Given the description of an element on the screen output the (x, y) to click on. 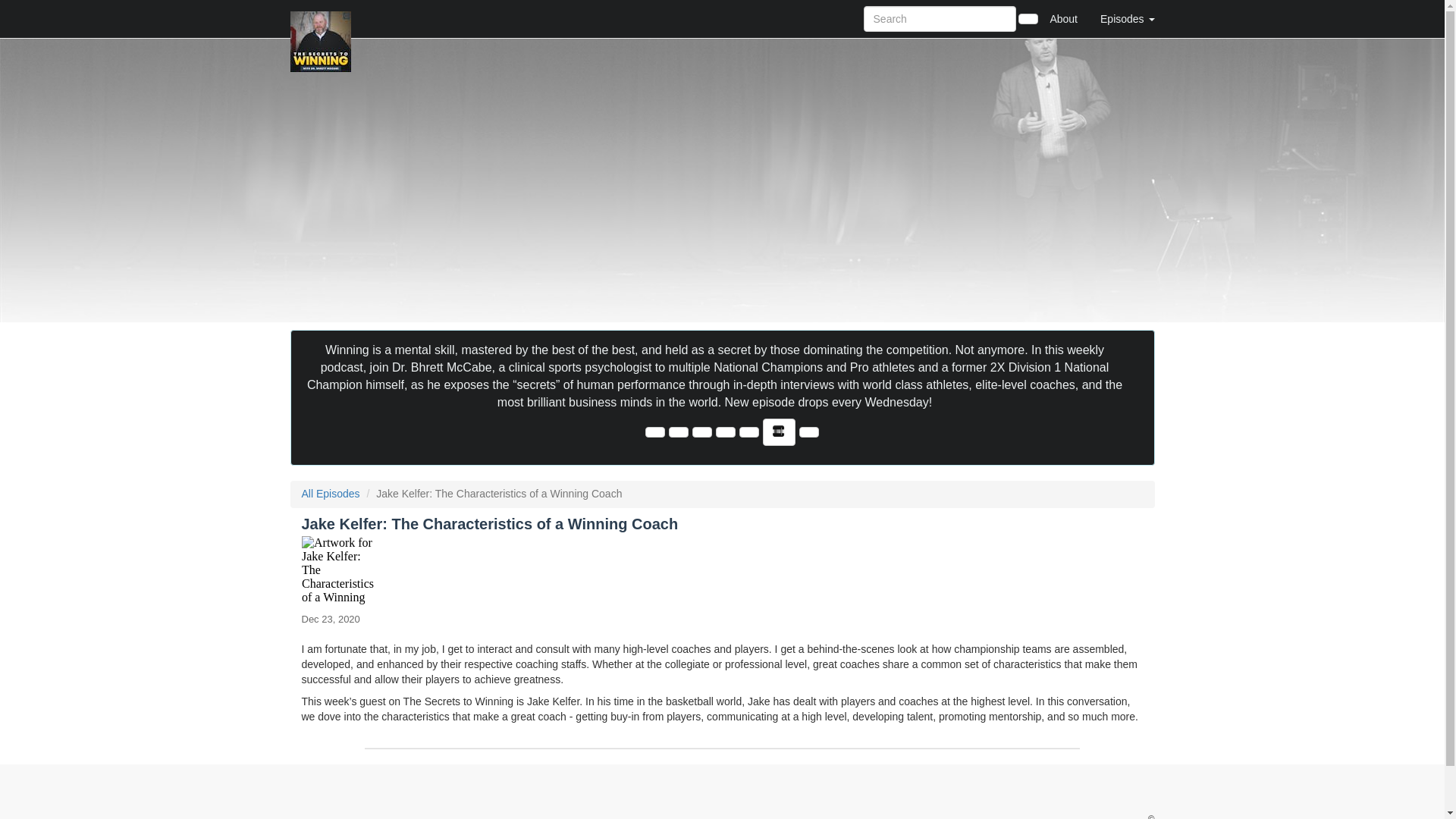
Home Page (320, 18)
Episodes (1127, 18)
Jake Kelfer: The Characteristics of a Winning Coach (721, 570)
About (1063, 18)
